Given the description of an element on the screen output the (x, y) to click on. 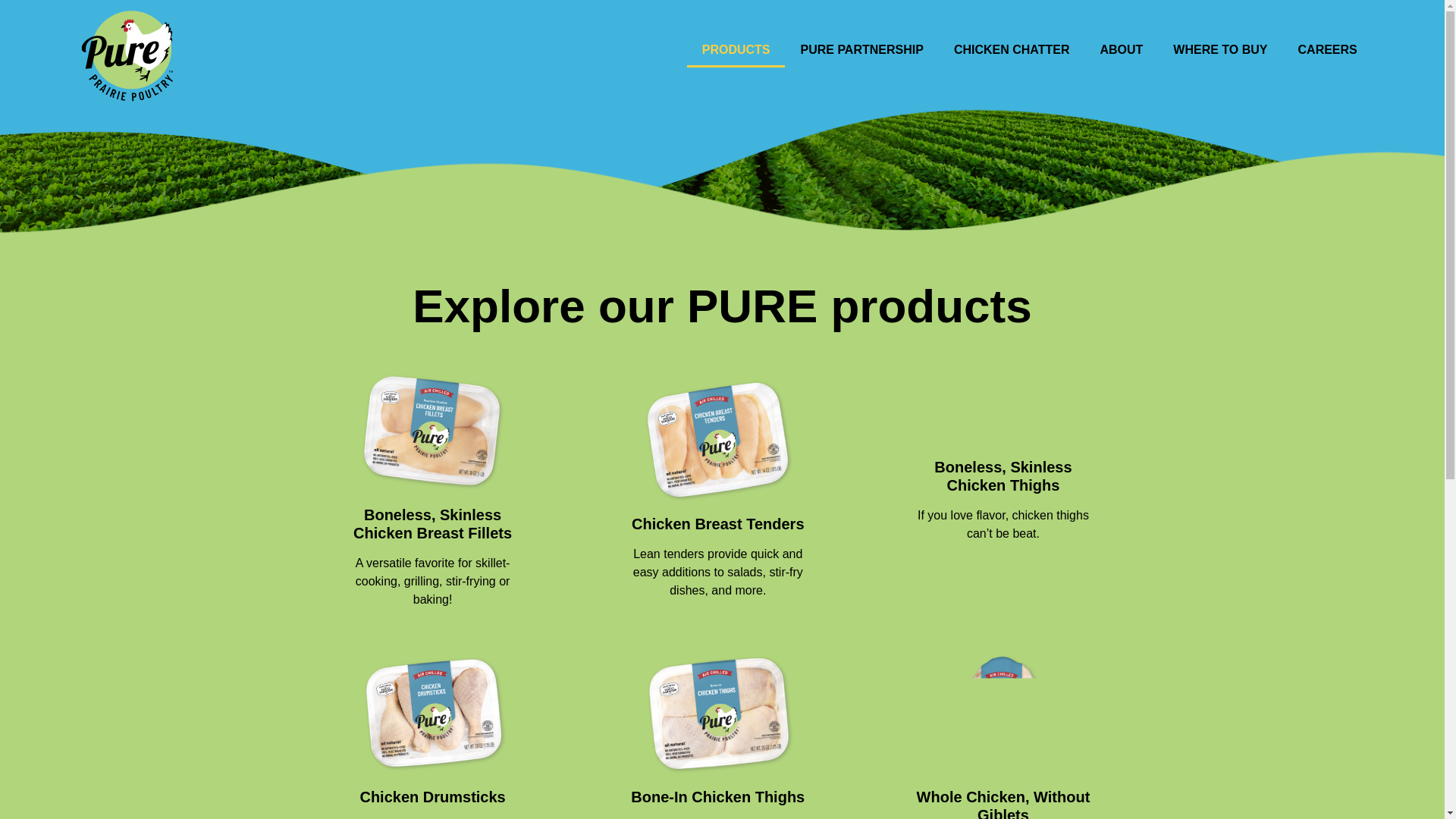
ABOUT (1120, 49)
WHERE TO BUY (1219, 49)
CAREERS (1327, 49)
PURE PARTNERSHIP (860, 49)
CHICKEN CHATTER (1011, 49)
PRODUCTS (736, 49)
